Given the description of an element on the screen output the (x, y) to click on. 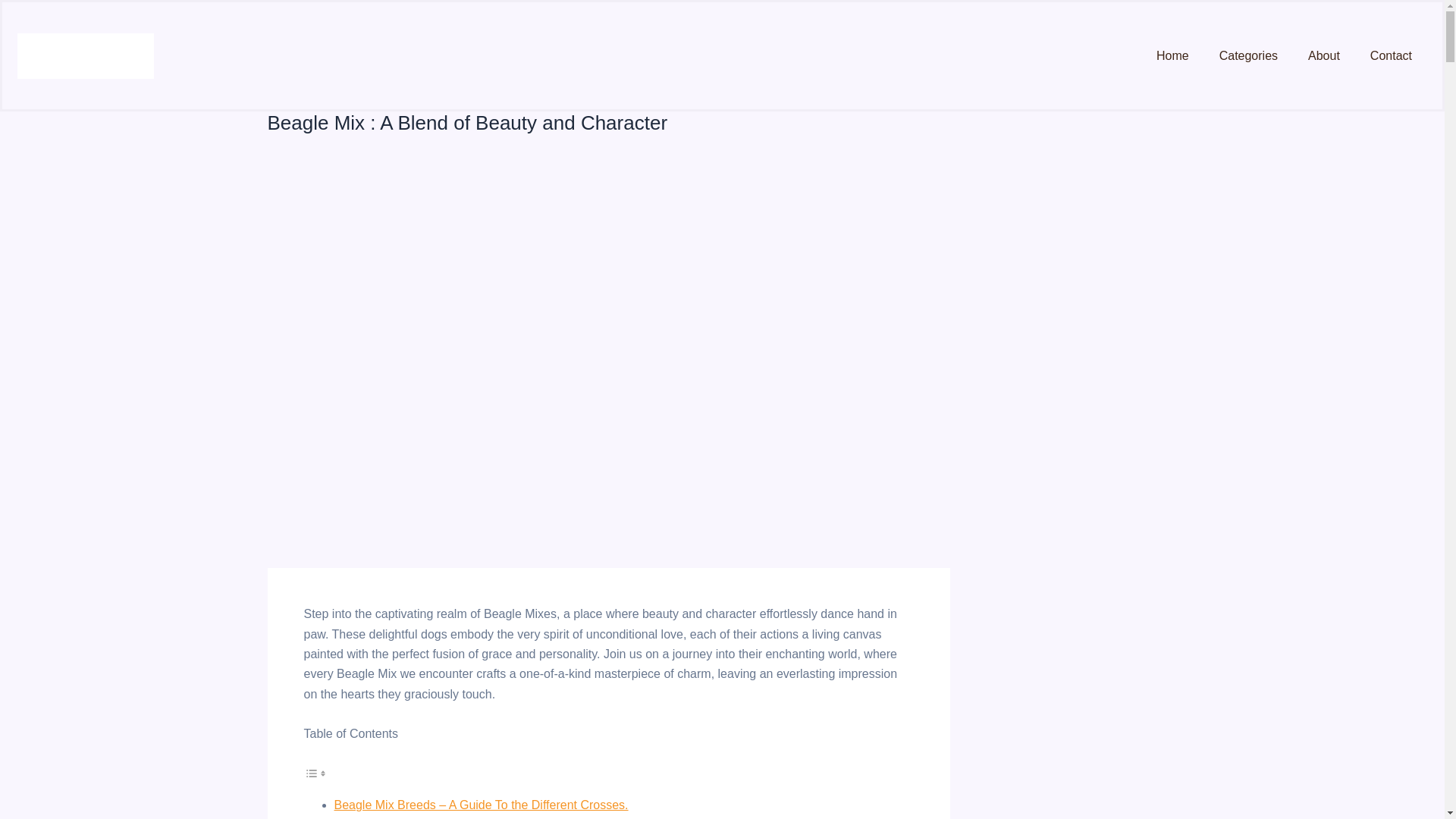
Contact (1390, 54)
Home (1172, 54)
Categories (1248, 54)
About (1323, 54)
